Given the description of an element on the screen output the (x, y) to click on. 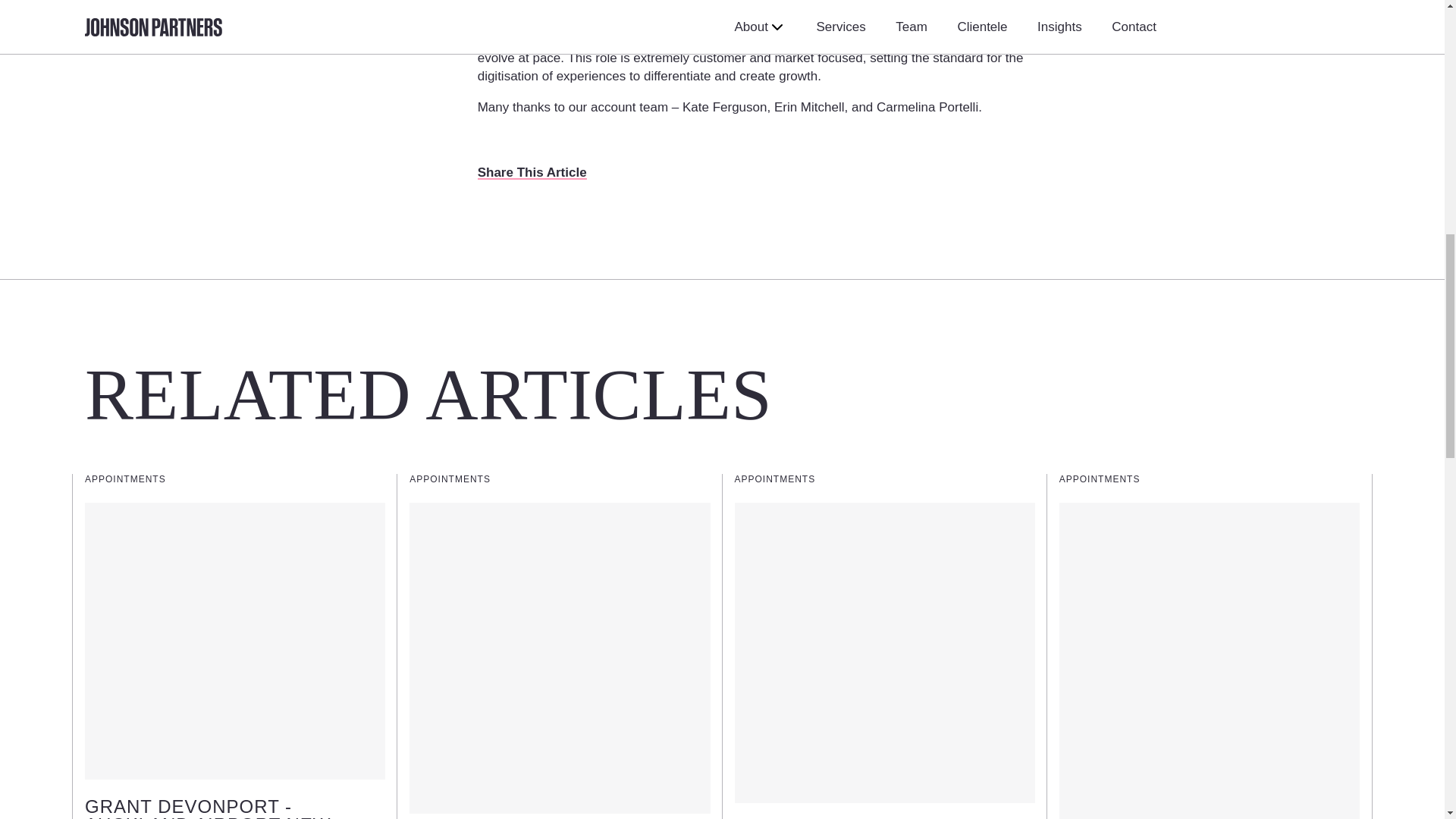
Share This Article (531, 172)
APPOINTMENTS (124, 479)
APPOINTMENTS (774, 479)
APPOINTMENTS (449, 479)
APPOINTMENTS (1099, 479)
